Given the description of an element on the screen output the (x, y) to click on. 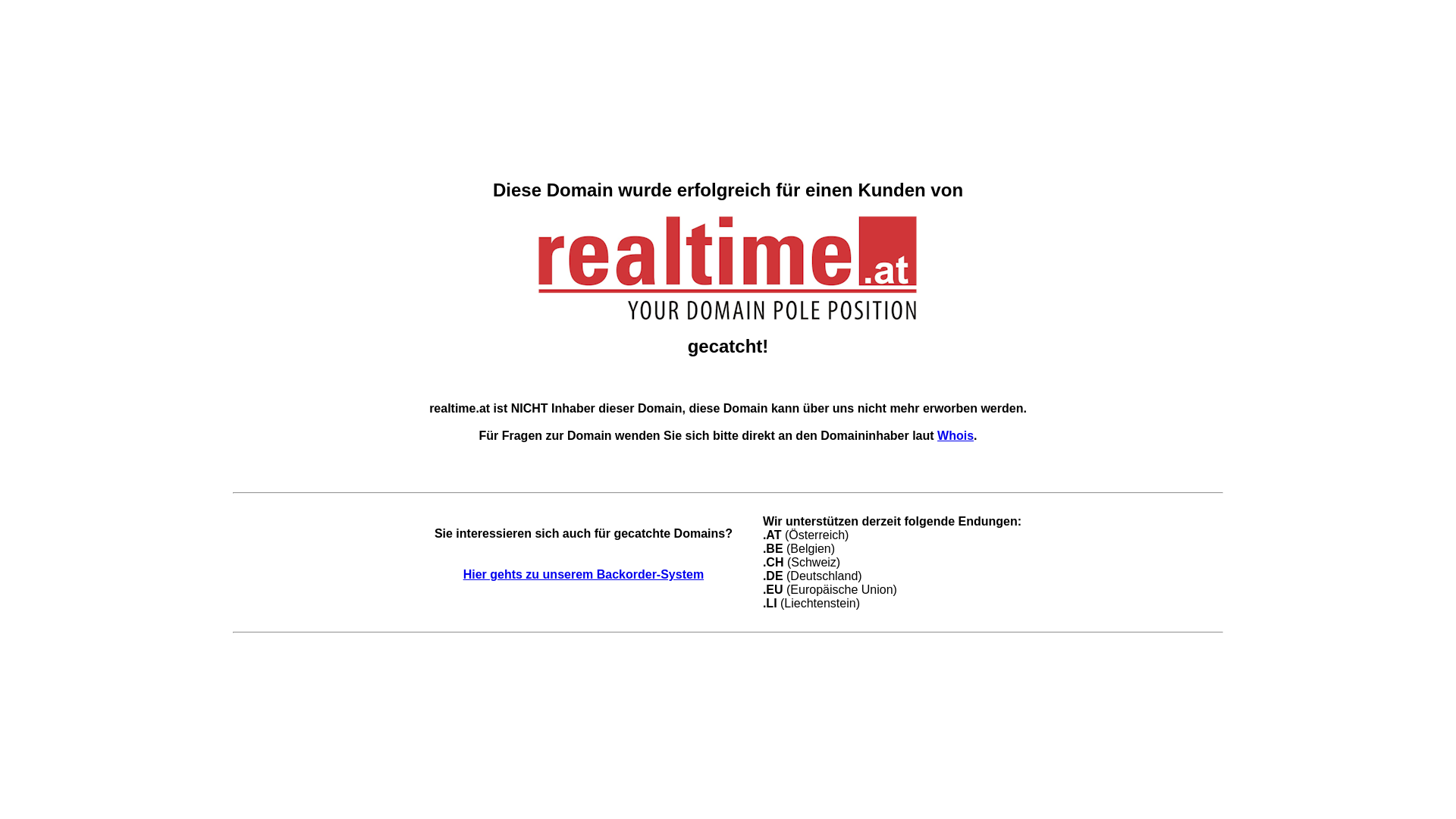
Whois Element type: text (955, 435)
Hier gehts zu unserem Backorder-System Element type: text (583, 573)
